Given the description of an element on the screen output the (x, y) to click on. 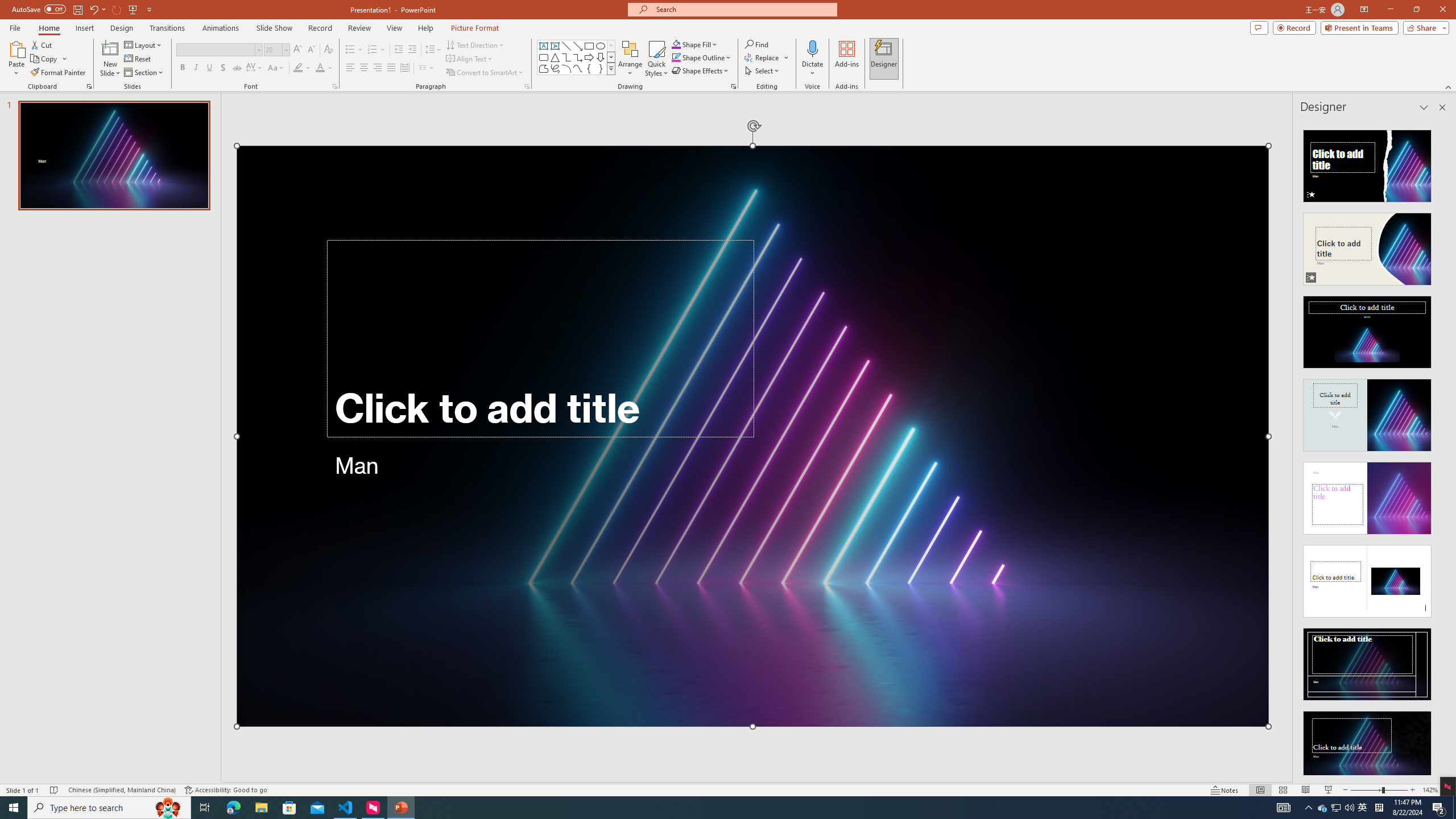
Zoom 142% (1430, 790)
